Given the description of an element on the screen output the (x, y) to click on. 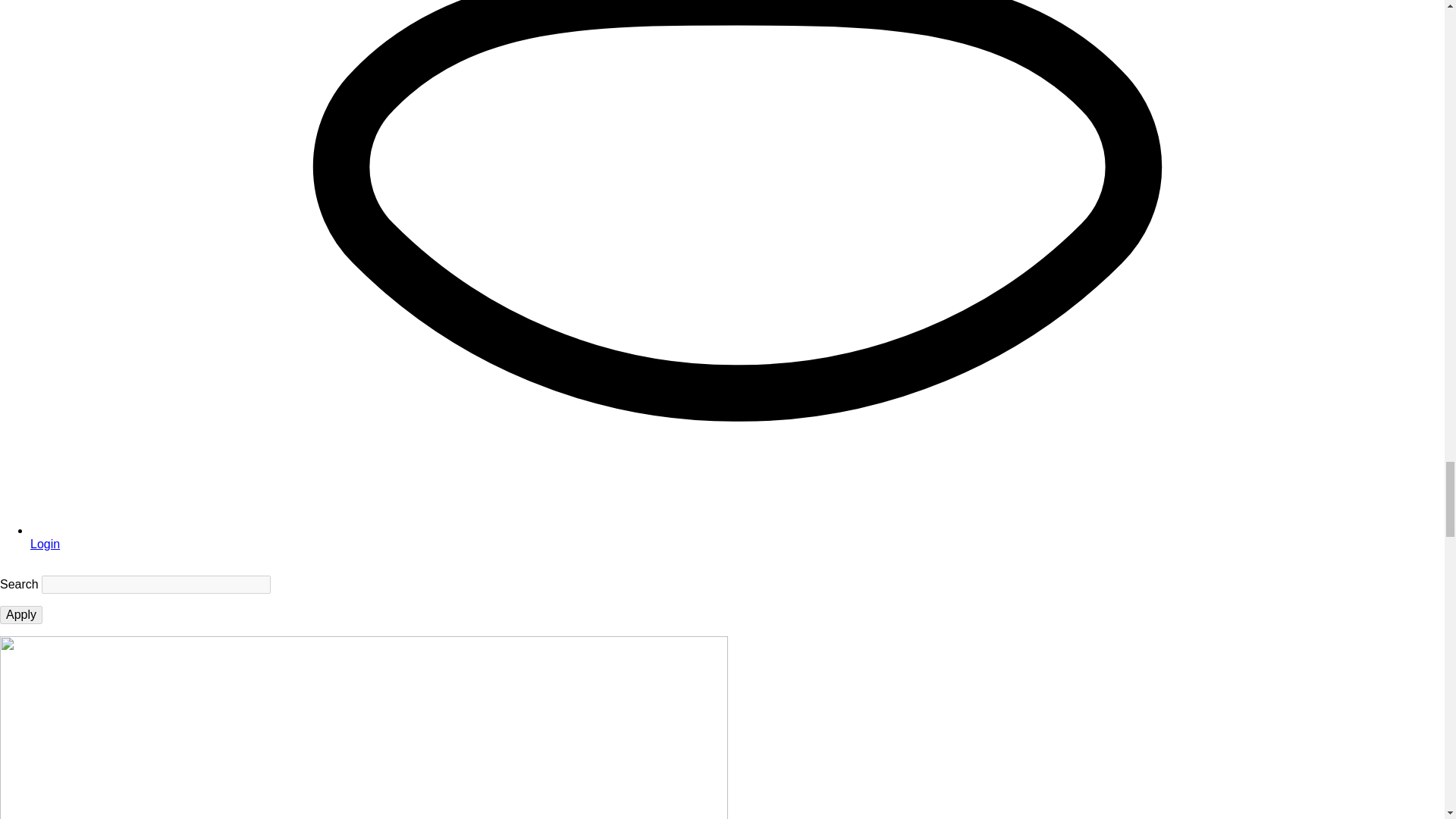
Apply (21, 615)
